Given the description of an element on the screen output the (x, y) to click on. 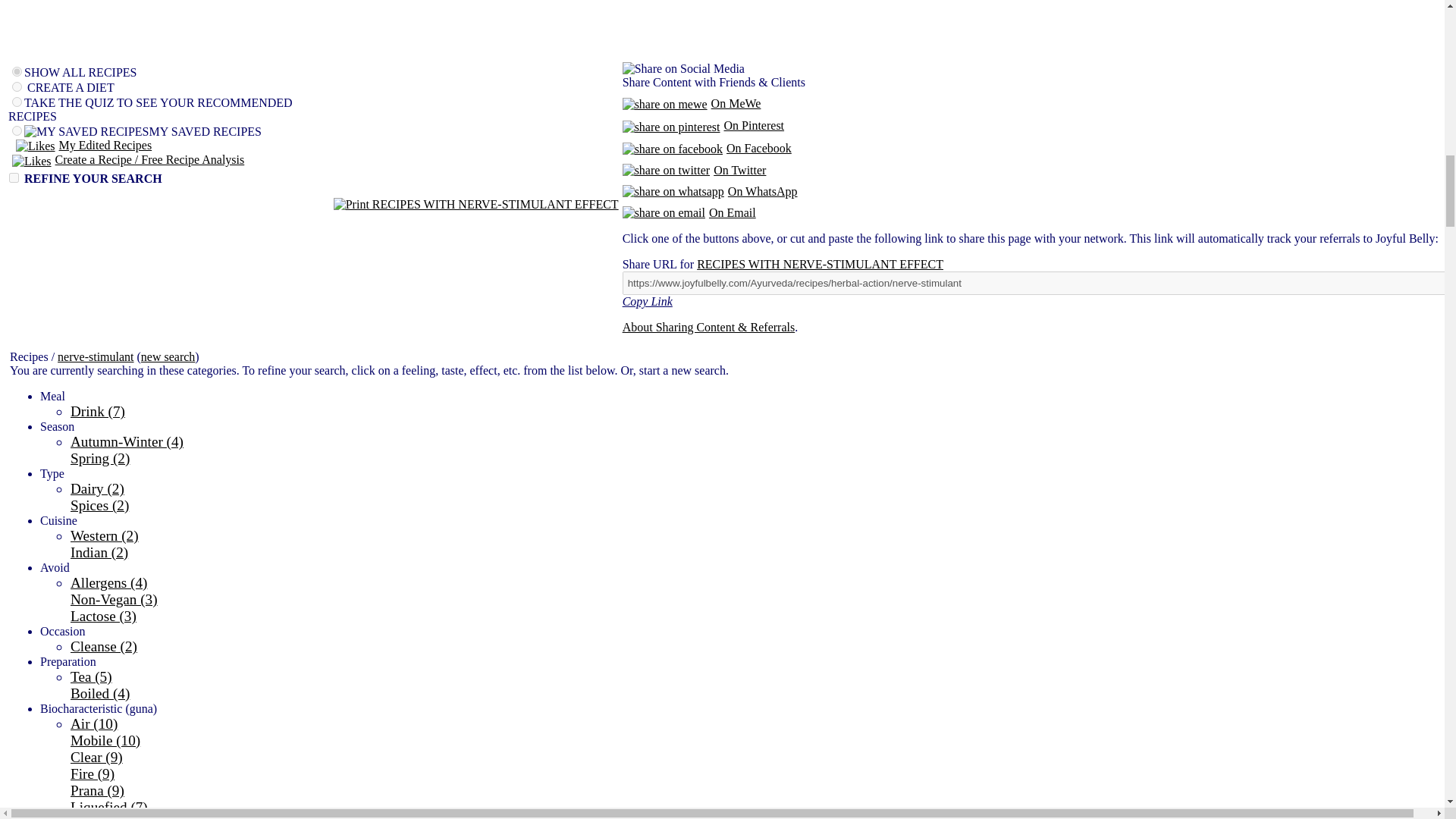
Print  RECIPES WITH NERVE-STIMULANT EFFECT (475, 204)
on (16, 102)
MY SAVED RECIPES (86, 131)
share on mewe (665, 104)
on (16, 86)
share on pinterest (671, 127)
on (13, 177)
on (16, 71)
share on facebook (672, 149)
on (16, 130)
